Given the description of an element on the screen output the (x, y) to click on. 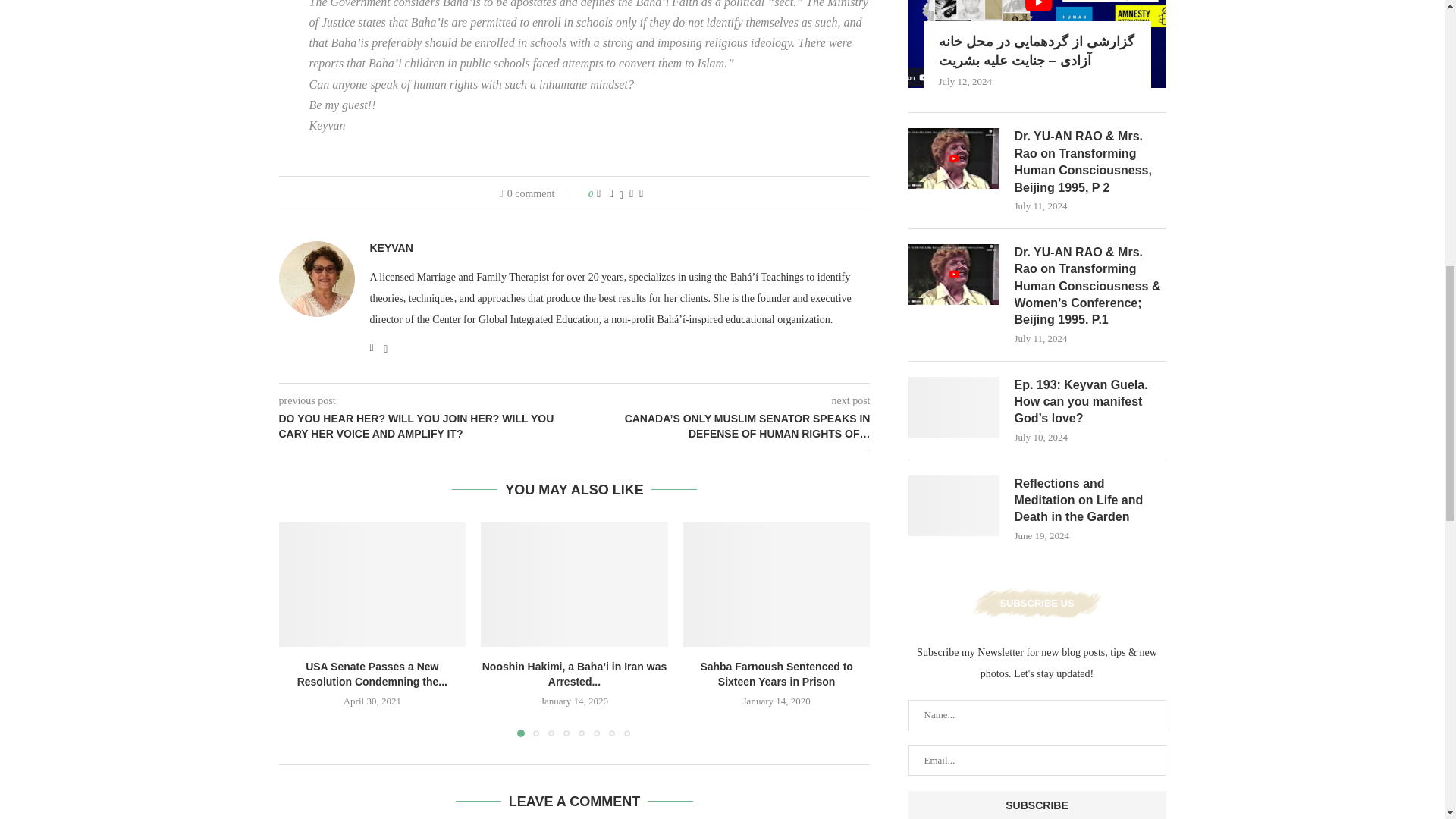
Subscribe (1037, 805)
Author keyvan (391, 247)
Sahba Farnoush Sentenced to Sixteen Years in Prison (776, 584)
